Given the description of an element on the screen output the (x, y) to click on. 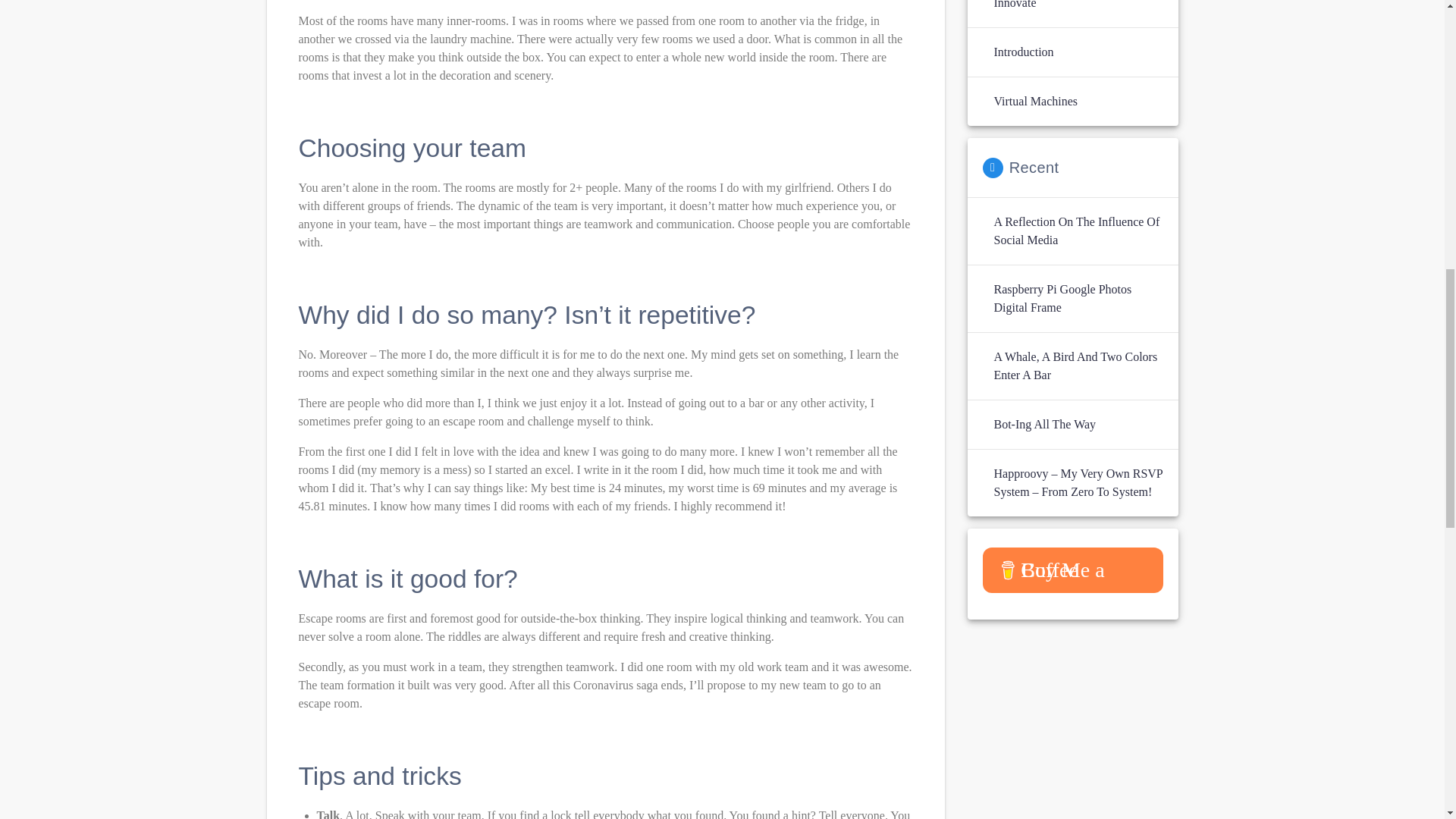
Bot-Ing All The Way (1044, 424)
Innovate (1013, 6)
Buy Me a Coffee (1072, 569)
A Whale, A Bird And Two Colors Enter A Bar (1076, 366)
Raspberry Pi Google Photos Digital Frame (1076, 298)
A Reflection On The Influence Of Social Media (1076, 230)
Introduction (1022, 52)
Virtual Machines (1034, 101)
